Given the description of an element on the screen output the (x, y) to click on. 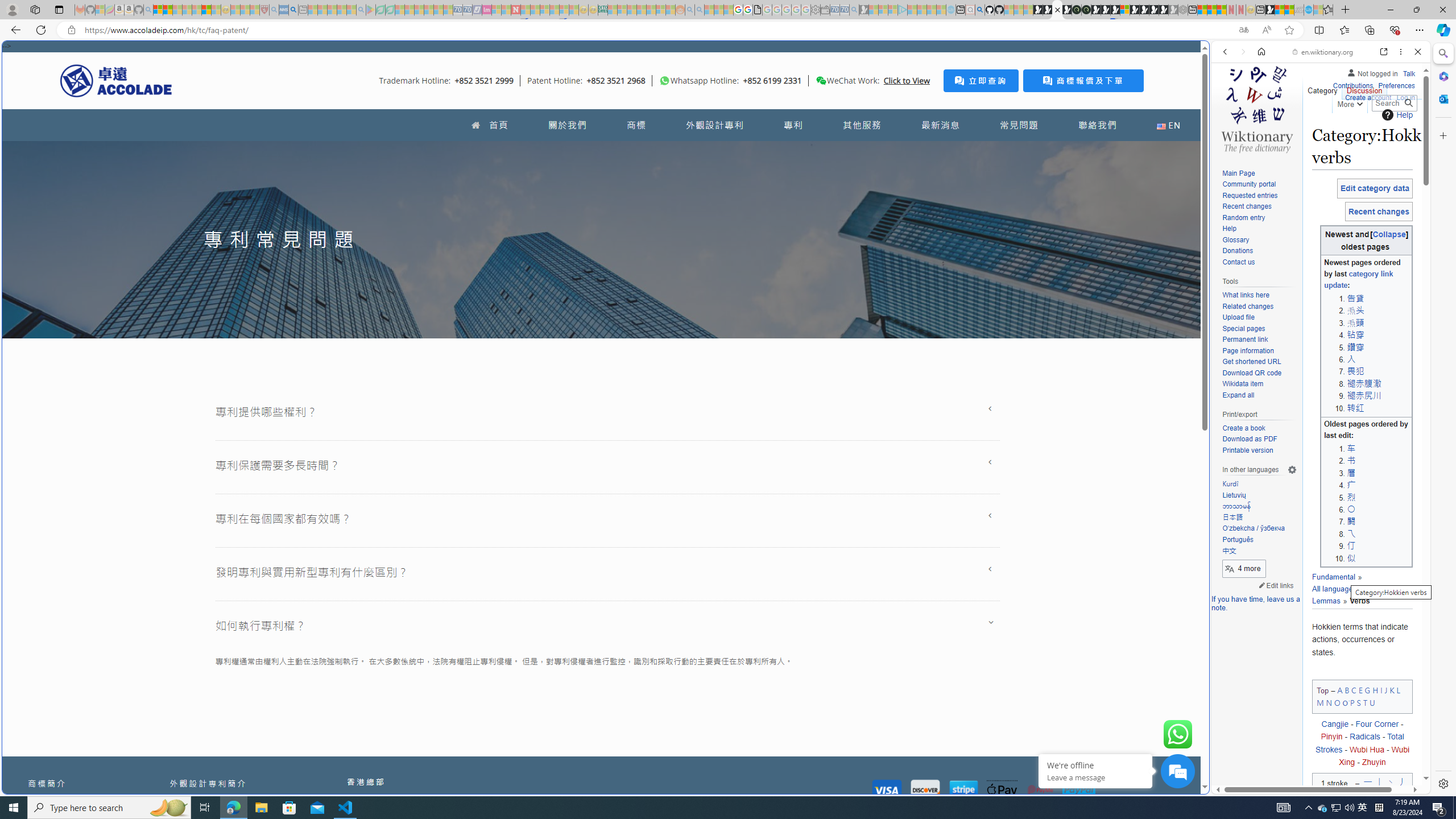
Get shortened URL (1251, 361)
Recent changes (1259, 206)
Talk (1408, 73)
Expand all (1259, 395)
Special pages (1243, 328)
Total Strokes (1358, 743)
